Given the description of an element on the screen output the (x, y) to click on. 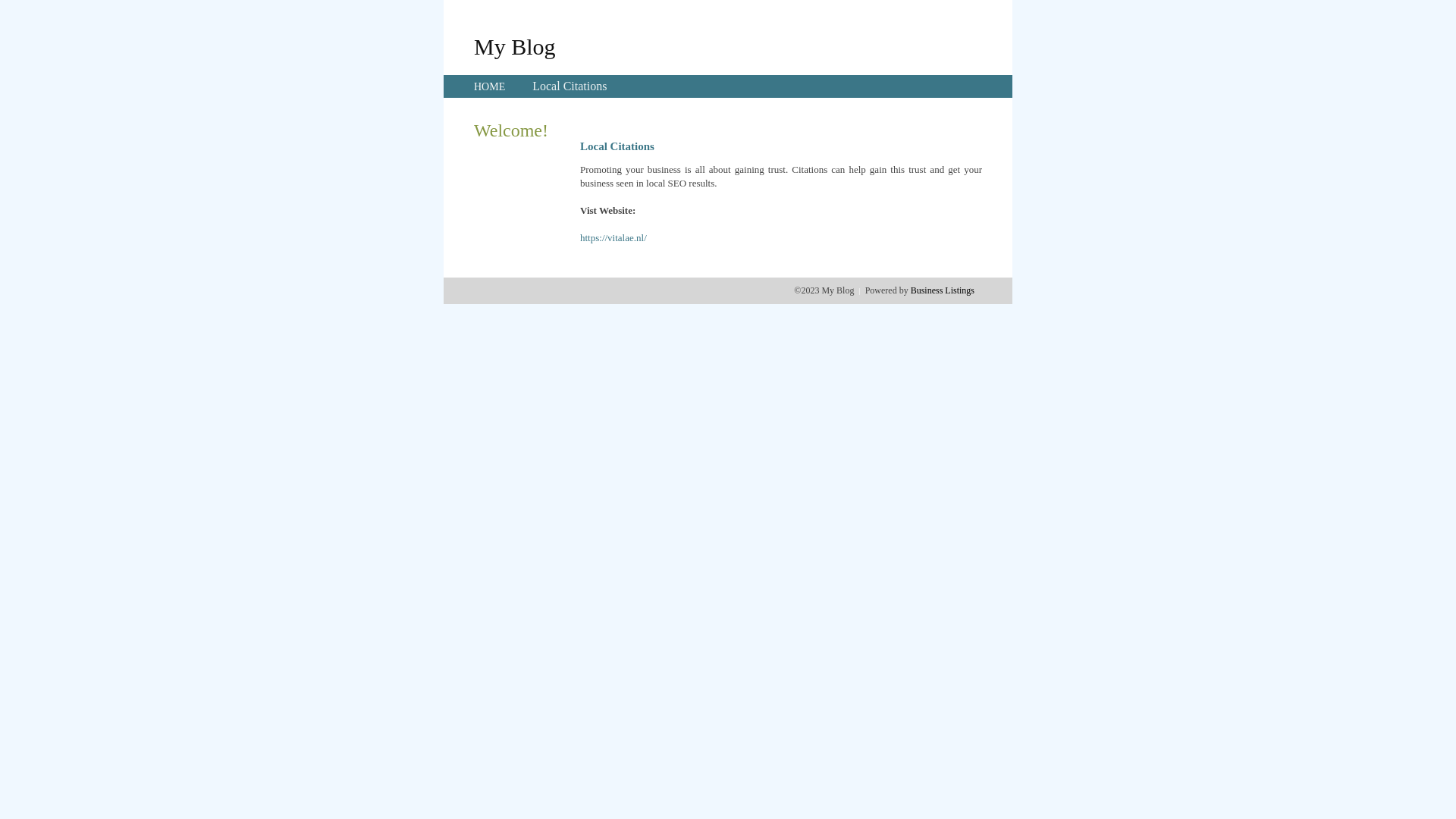
https://vitalae.nl/ Element type: text (613, 237)
HOME Element type: text (489, 86)
My Blog Element type: text (514, 46)
Local Citations Element type: text (569, 85)
Business Listings Element type: text (942, 290)
